Given the description of an element on the screen output the (x, y) to click on. 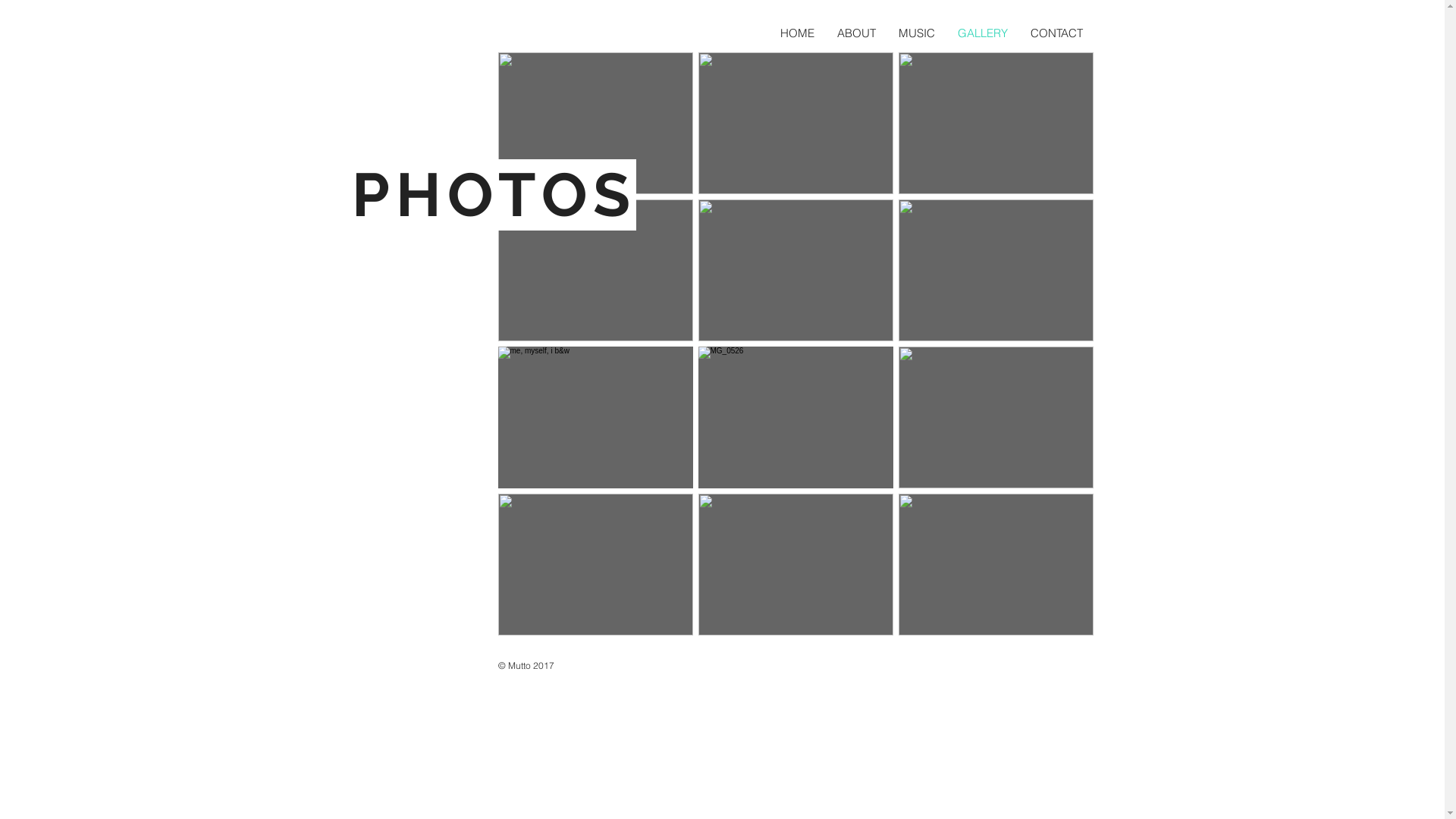
ABOUT Element type: text (855, 32)
MUSIC Element type: text (916, 32)
GALLERY Element type: text (982, 32)
HOME Element type: text (796, 32)
CONTACT Element type: text (1056, 32)
